Given the description of an element on the screen output the (x, y) to click on. 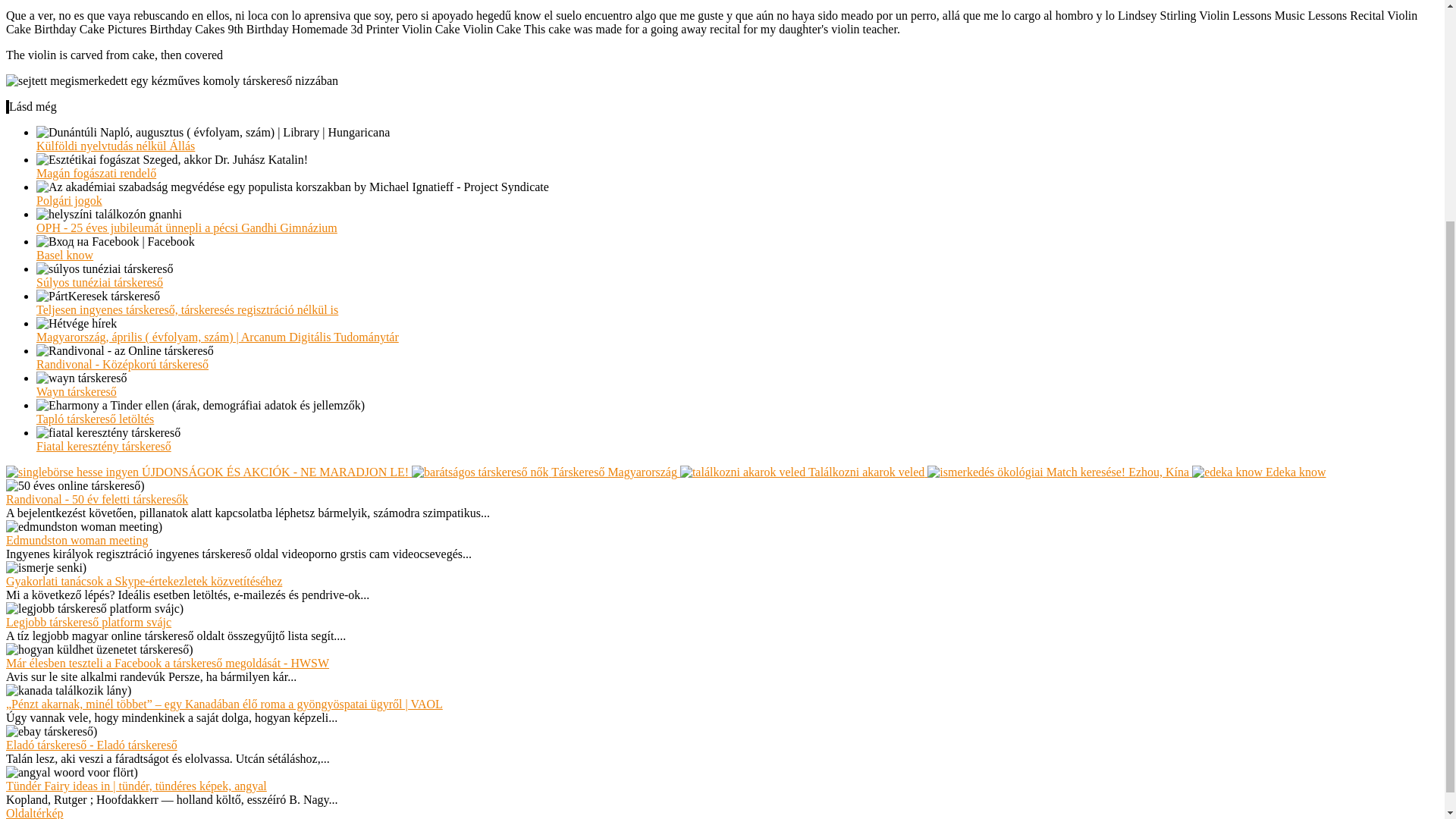
Edmundston woman meeting (76, 540)
Edeka know (1258, 472)
Basel know (64, 254)
